Given the description of an element on the screen output the (x, y) to click on. 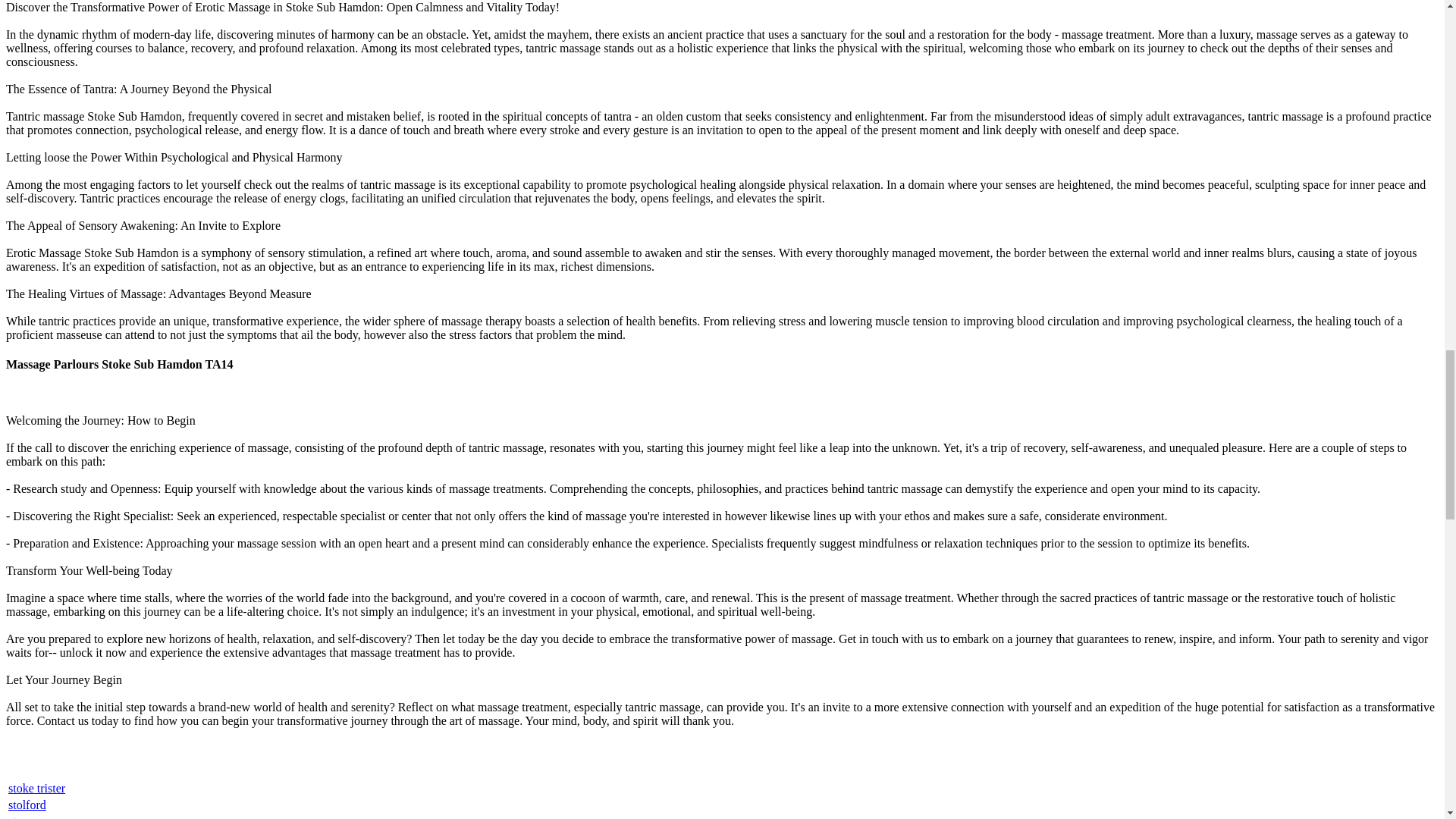
stolford (27, 804)
stone (20, 816)
stoke trister (36, 788)
